Given the description of an element on the screen output the (x, y) to click on. 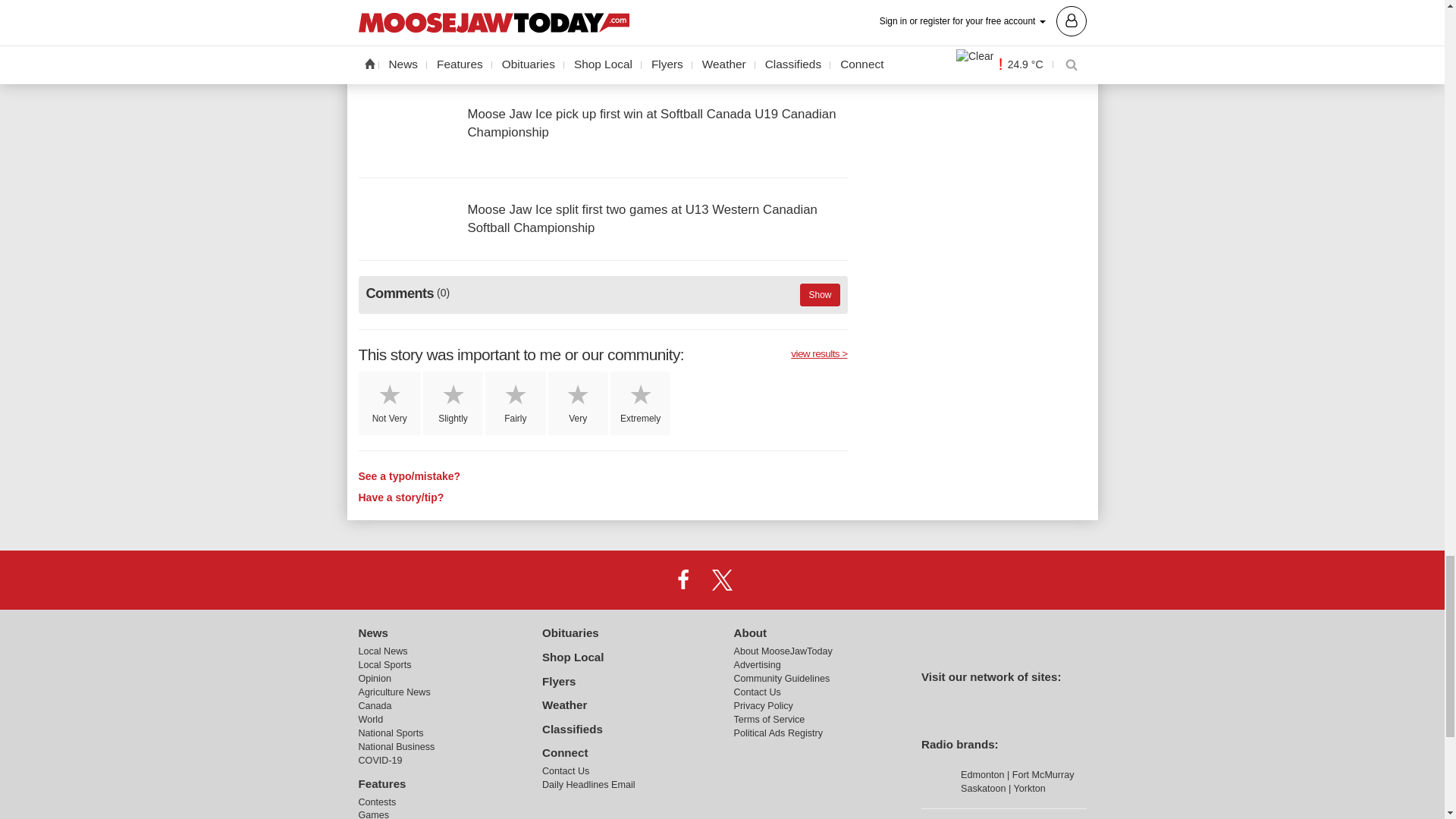
X (721, 579)
Instagram (760, 579)
Facebook (683, 579)
